Given the description of an element on the screen output the (x, y) to click on. 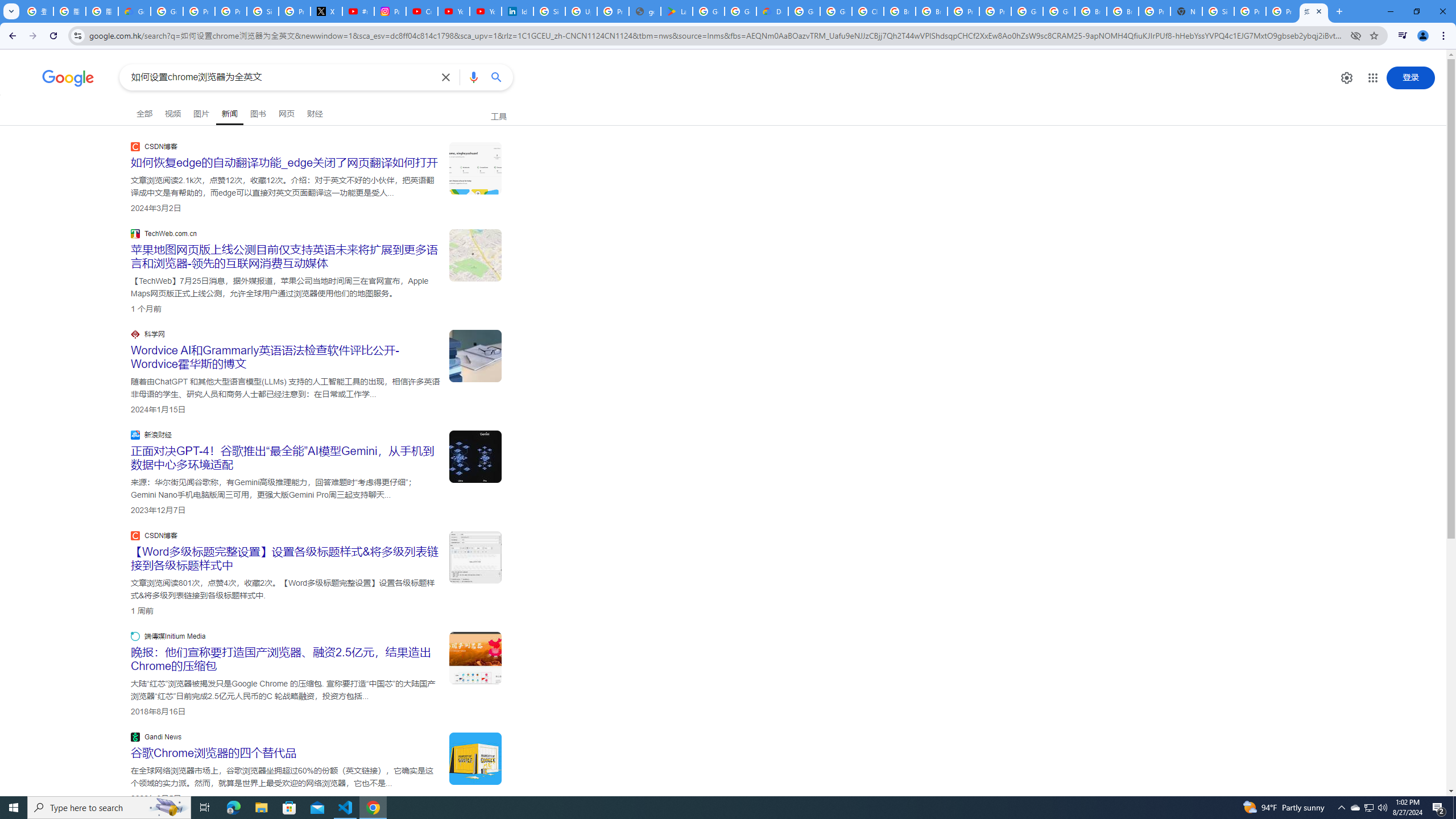
Sign in - Google Accounts (549, 11)
